Given the description of an element on the screen output the (x, y) to click on. 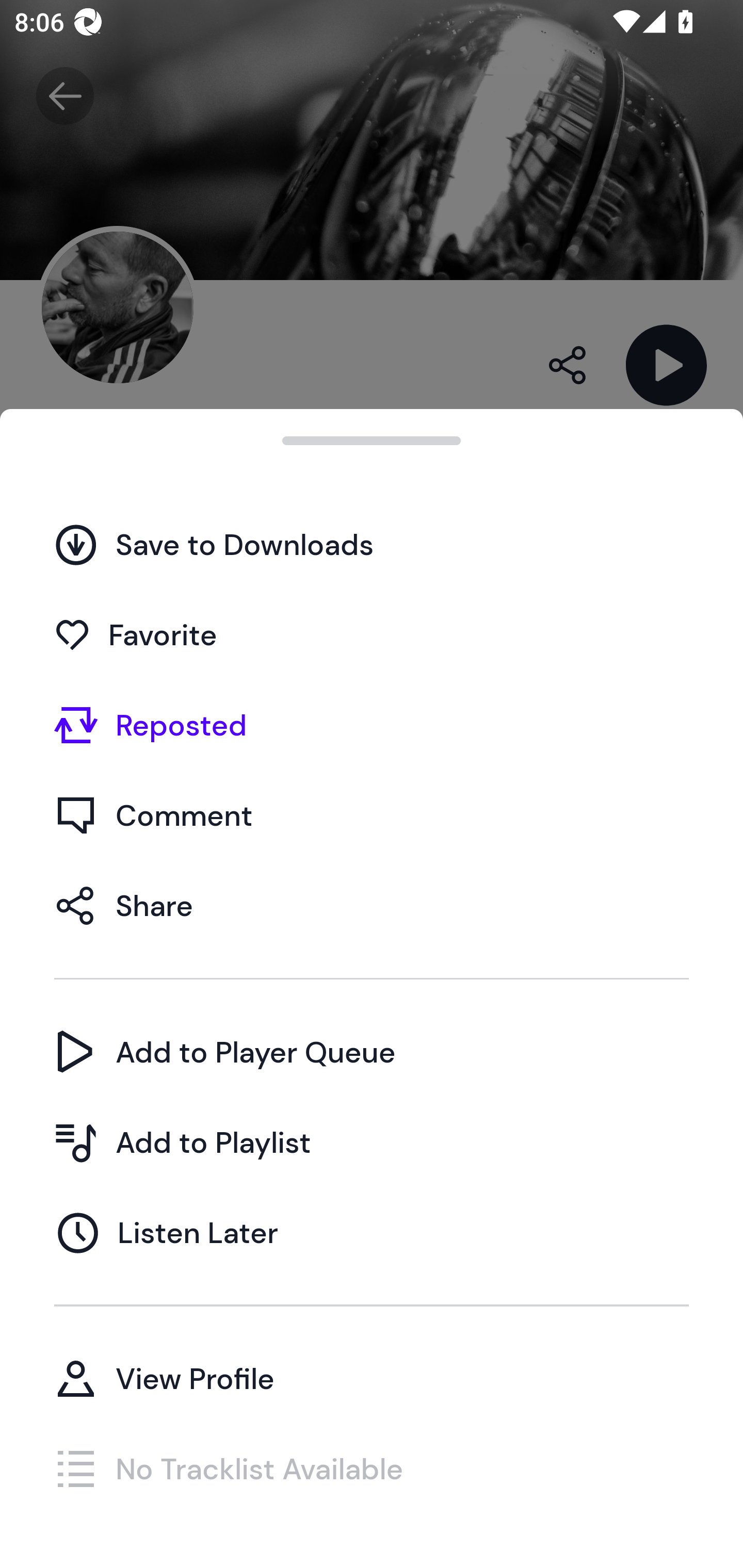
Save to Downloads (371, 543)
Favorite (371, 634)
Reposted (371, 724)
Comment (371, 814)
Share (371, 905)
Add to Player Queue (371, 1051)
Add to Playlist (371, 1141)
Listen Later (371, 1231)
View Profile (371, 1377)
No Tracklist Available (371, 1468)
